Given the description of an element on the screen output the (x, y) to click on. 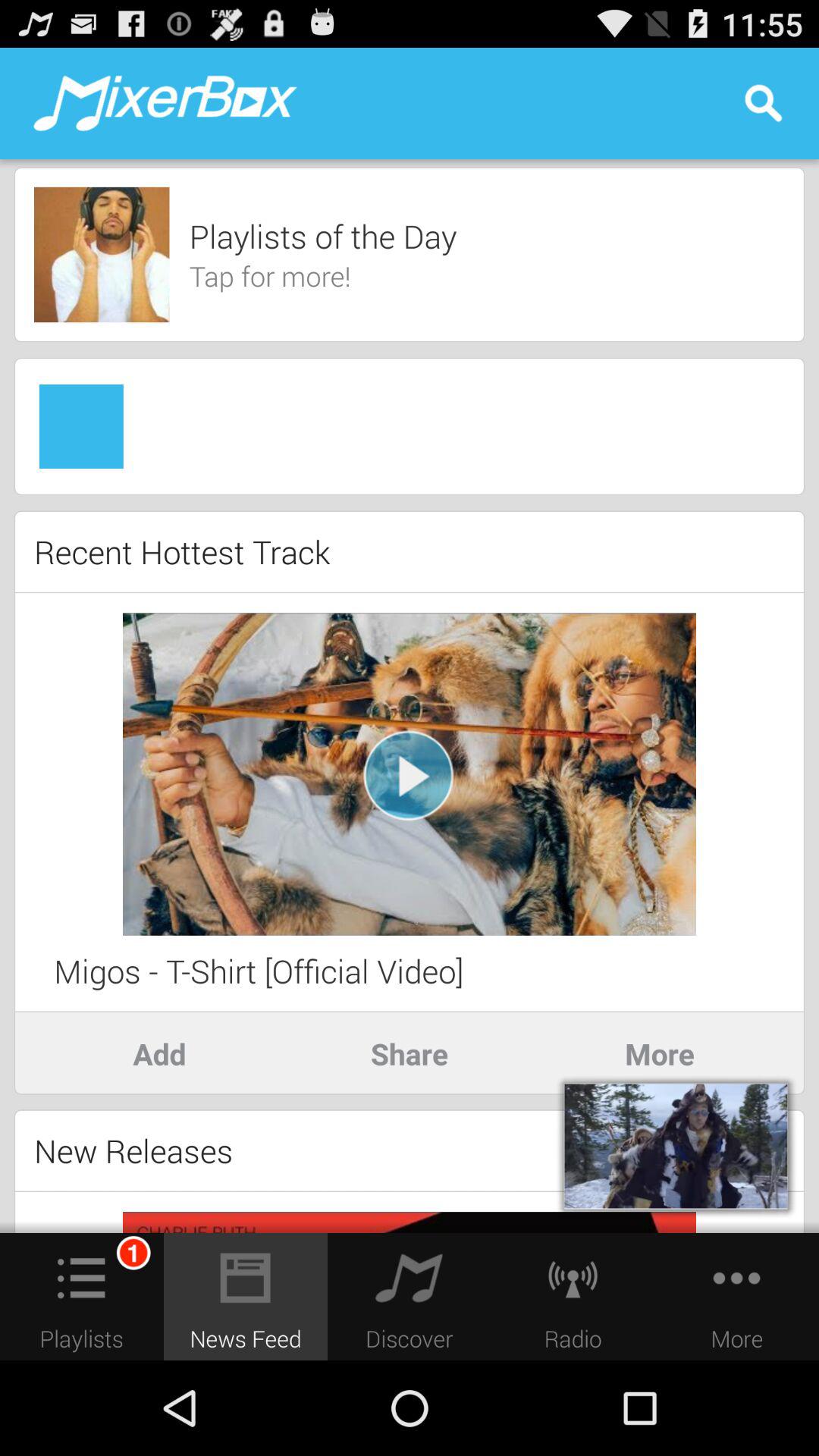
choose the icon next to the share (159, 1053)
